Given the description of an element on the screen output the (x, y) to click on. 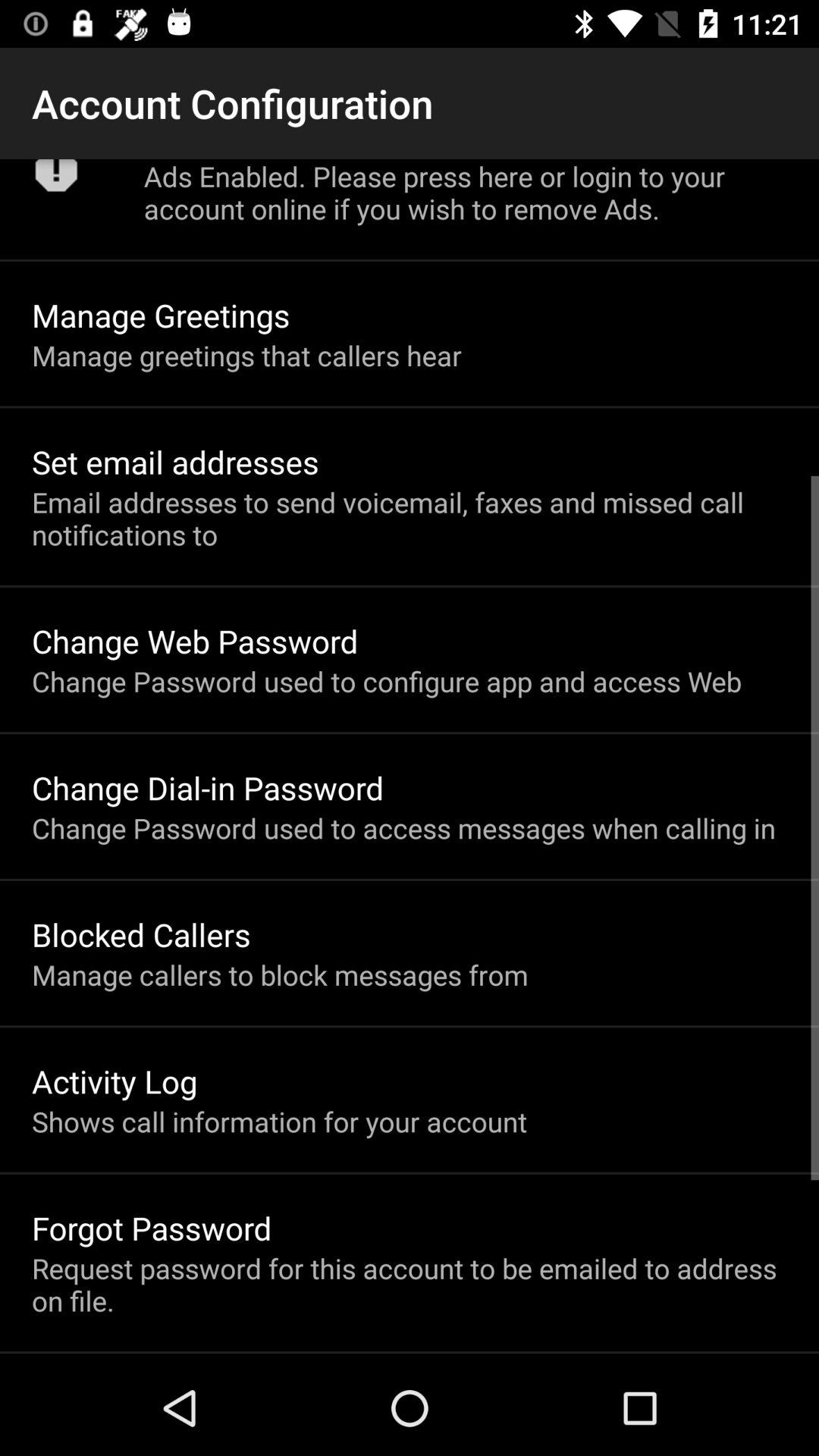
swipe to blocked callers item (140, 934)
